Given the description of an element on the screen output the (x, y) to click on. 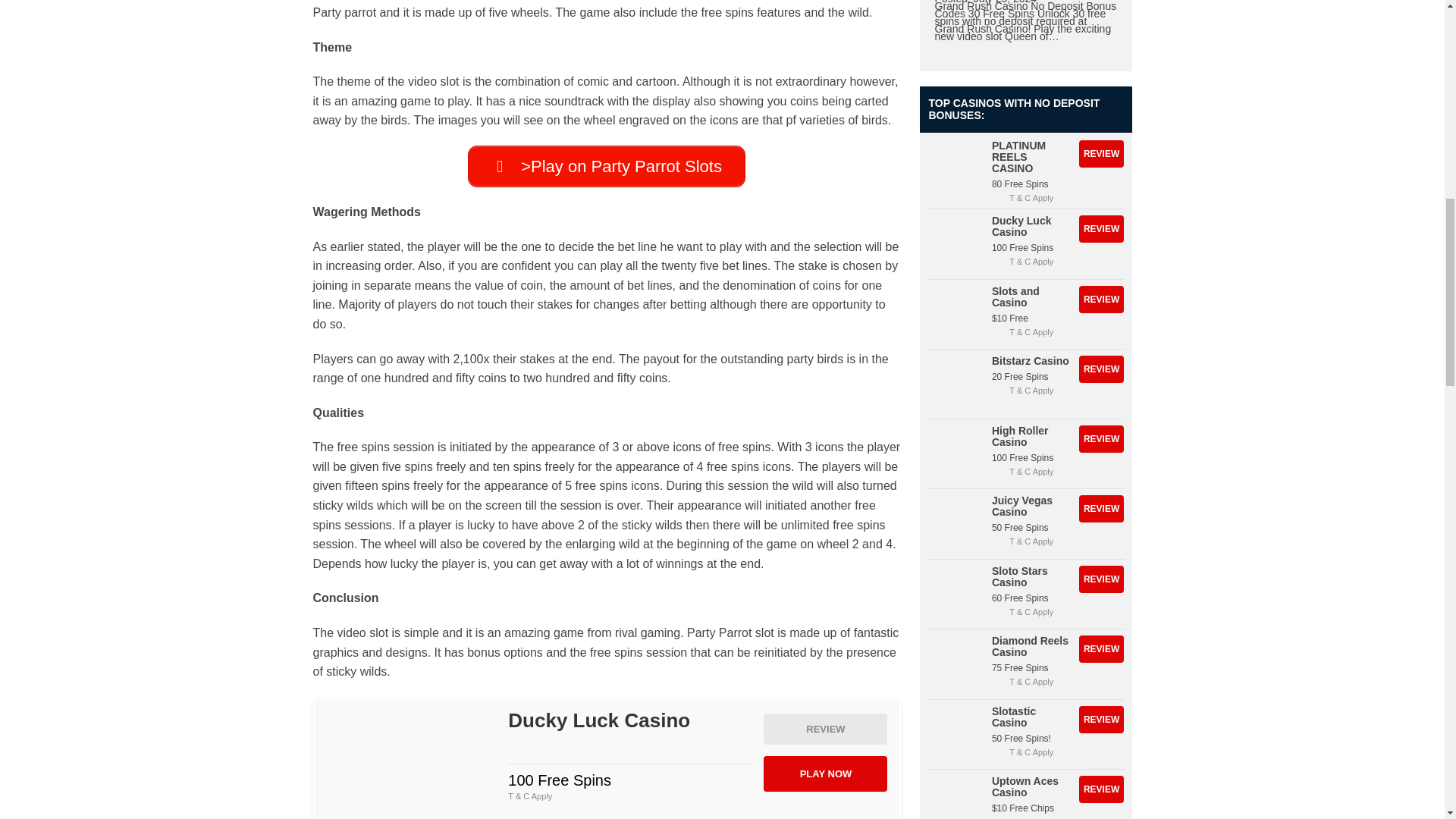
Ducky Luck Casino (410, 764)
Ducky Luck Casino (824, 728)
